Given the description of an element on the screen output the (x, y) to click on. 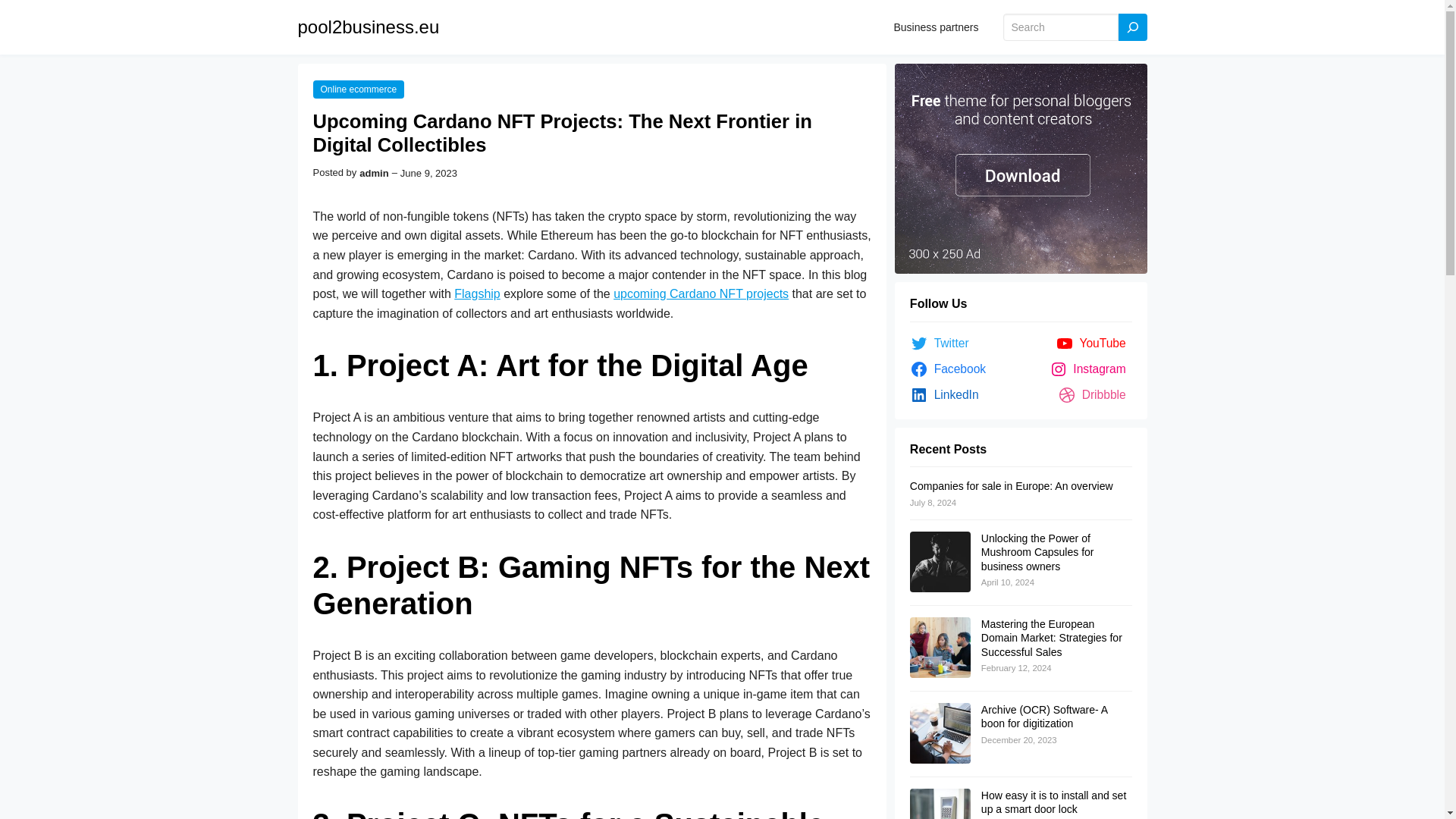
Companies for sale in Europe: An overview (1011, 485)
Flagship (476, 293)
Business partners (935, 27)
Instagram (1090, 369)
Facebook (950, 369)
YouTube (1093, 343)
pool2business.eu (368, 26)
upcoming Cardano NFT projects (700, 293)
Dribbble (1095, 394)
LinkedIn (947, 394)
Online ecommerce (358, 89)
How easy it is to install and set up a smart door lock (1053, 801)
Twitter (942, 343)
Unlocking the Power of Mushroom Capsules for business owners (1037, 551)
